Given the description of an element on the screen output the (x, y) to click on. 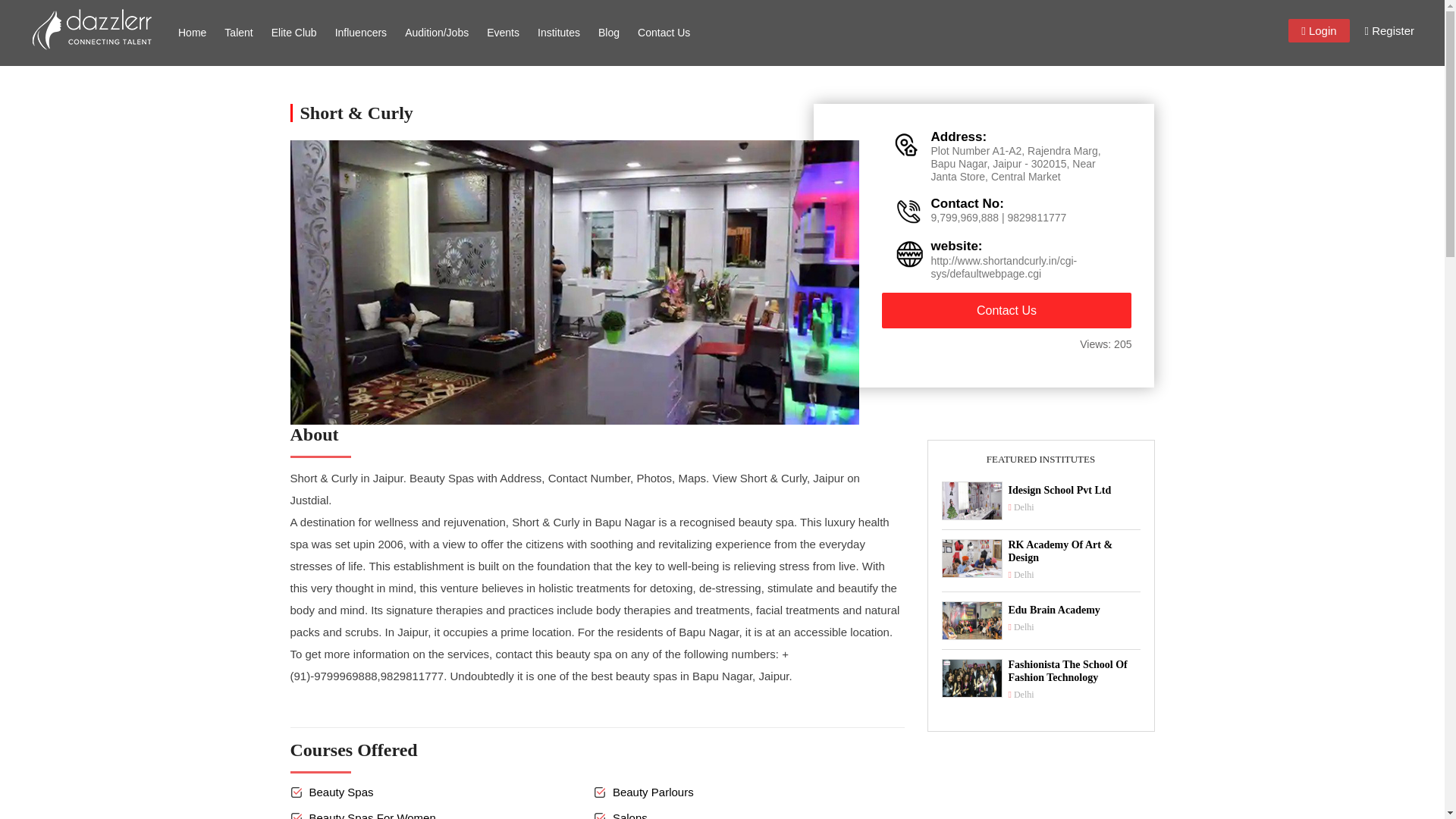
Fashionista The School Of Fashion Technology (1073, 671)
Idesign School Pvt Ltd (1073, 490)
Home (191, 32)
Contact Us (1005, 310)
Talent (238, 32)
Institutes (558, 32)
Views: 205 (1093, 345)
Contact Us (663, 32)
Influencers (361, 32)
9,799,969,888 (964, 217)
Register (1388, 30)
Elite Club (294, 32)
Blog (608, 32)
Login (1318, 30)
Edu Brain Academy (1073, 610)
